Given the description of an element on the screen output the (x, y) to click on. 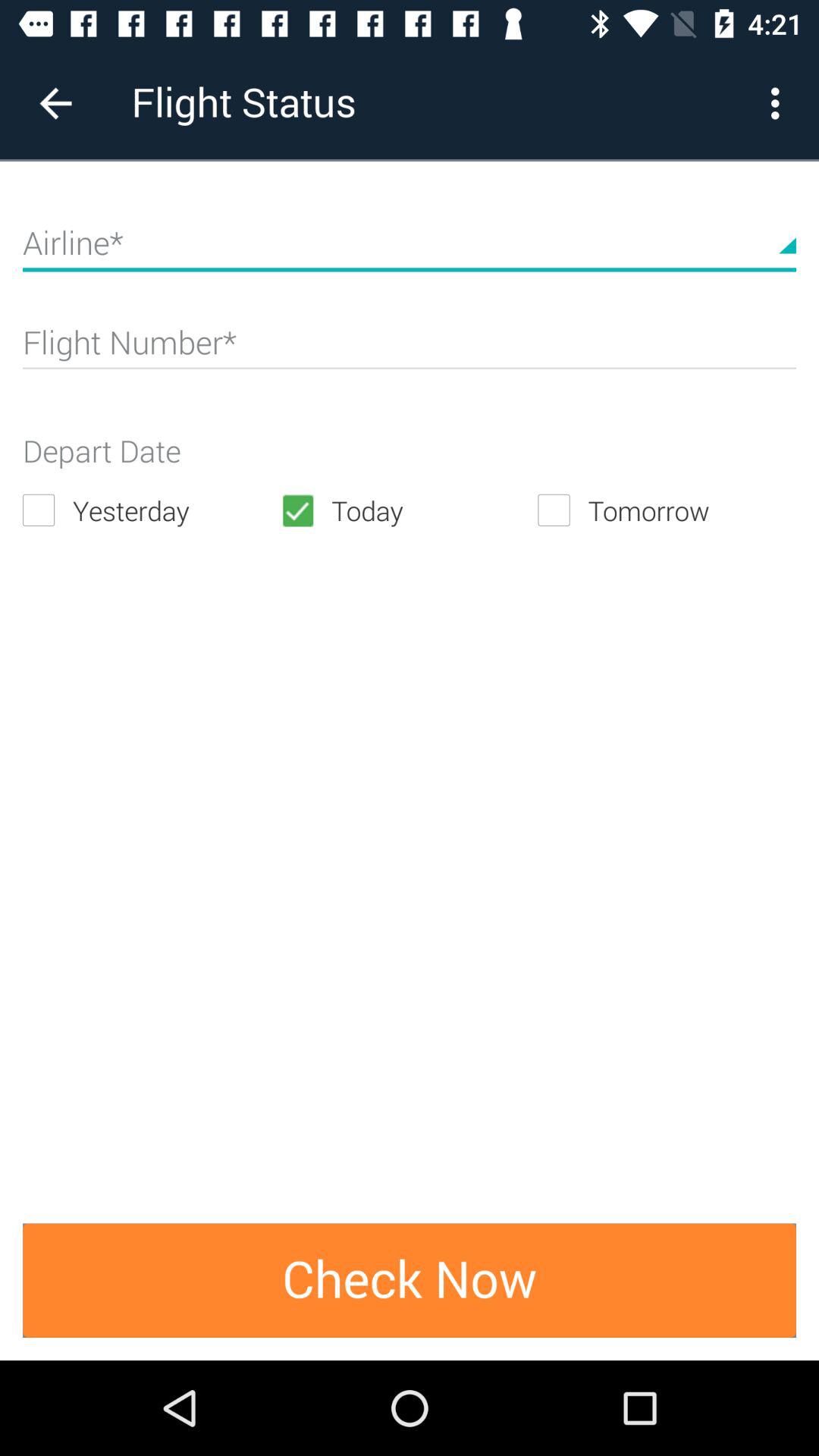
press the item to the left of the tomorrow icon (409, 510)
